Given the description of an element on the screen output the (x, y) to click on. 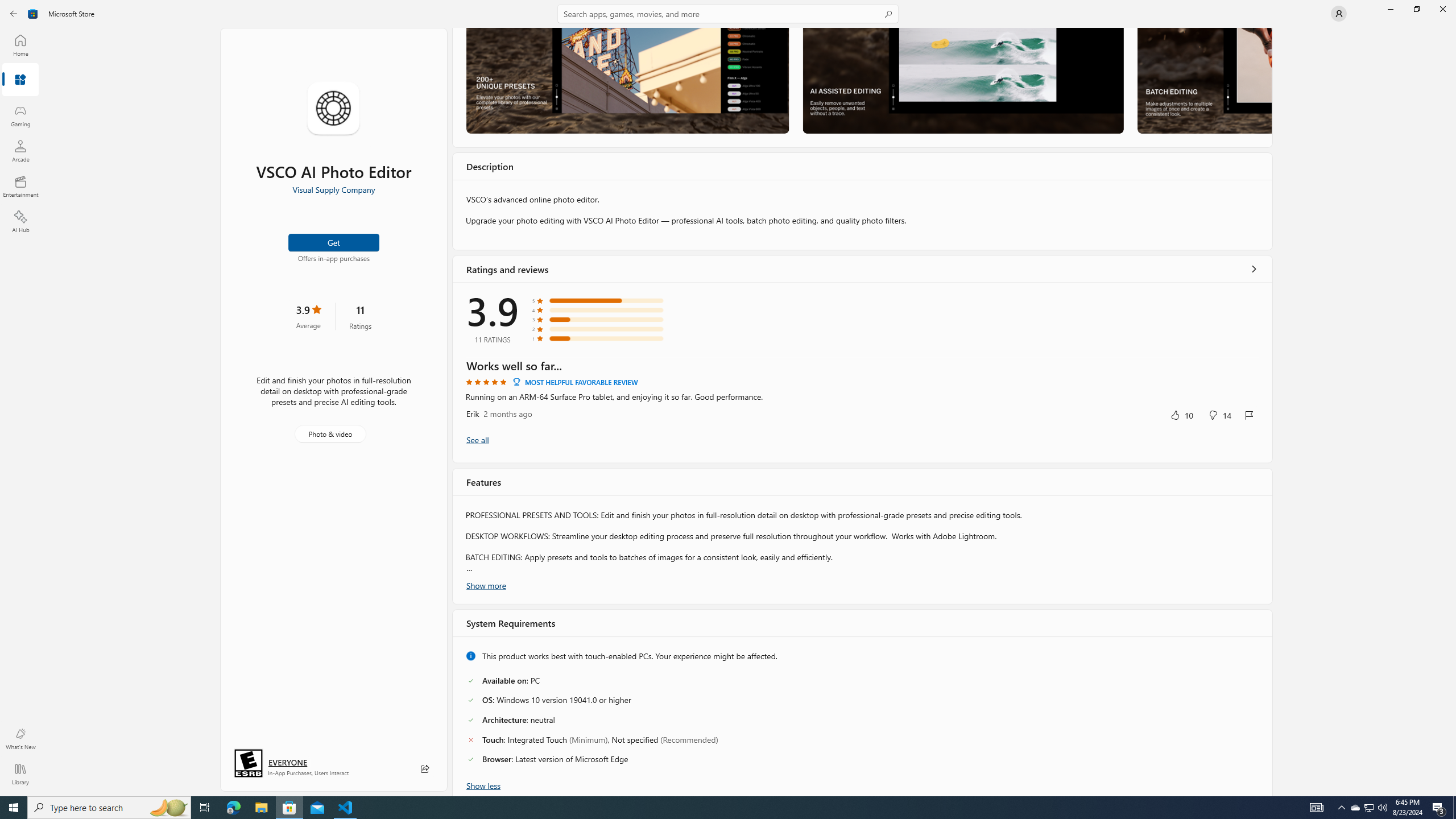
Show all ratings and reviews (477, 439)
AutomationID: NavigationControl (728, 398)
Search (727, 13)
Visual Supply Company (333, 189)
No, this was not helpful. 14 votes. (1219, 414)
Back (13, 13)
